Given the description of an element on the screen output the (x, y) to click on. 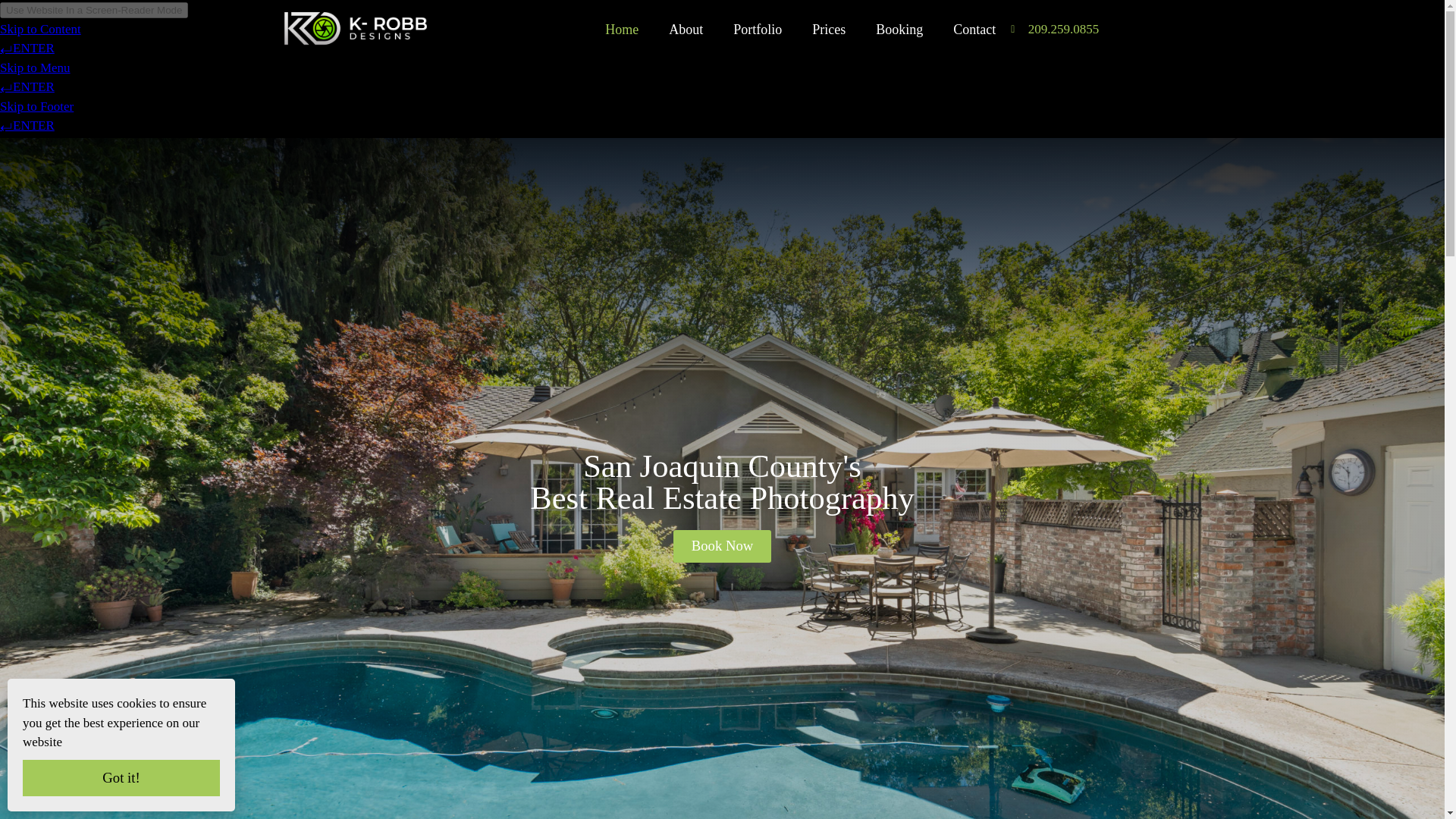
Book Now (721, 545)
About (685, 8)
Contact (973, 13)
Booking (898, 12)
209.259.0855 (1054, 21)
Home (621, 6)
Prices (828, 11)
Portfolio (756, 9)
